Given the description of an element on the screen output the (x, y) to click on. 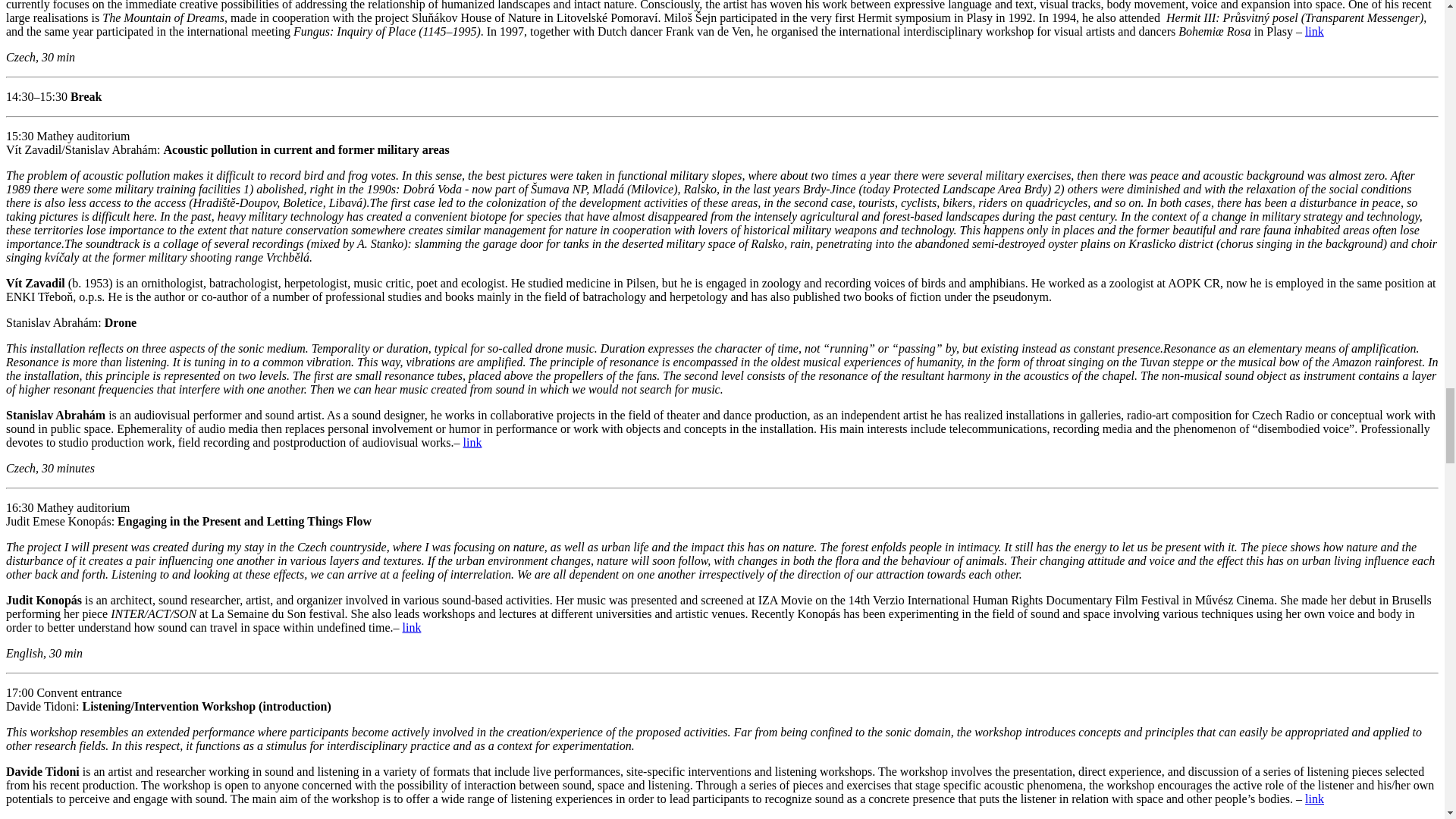
link (412, 626)
link (1313, 31)
link (1313, 798)
link (472, 441)
